Given the description of an element on the screen output the (x, y) to click on. 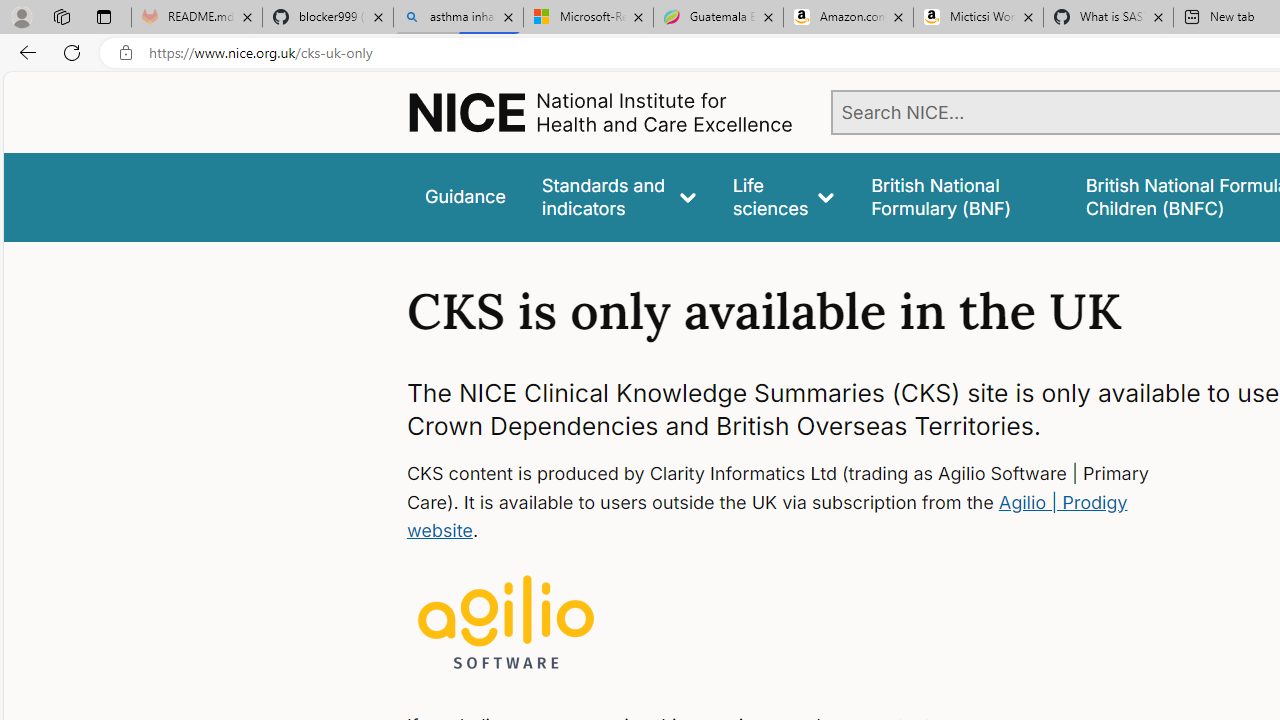
Guidance (464, 196)
Life sciences (783, 196)
Life sciences (783, 196)
Guidance (464, 196)
